Given the description of an element on the screen output the (x, y) to click on. 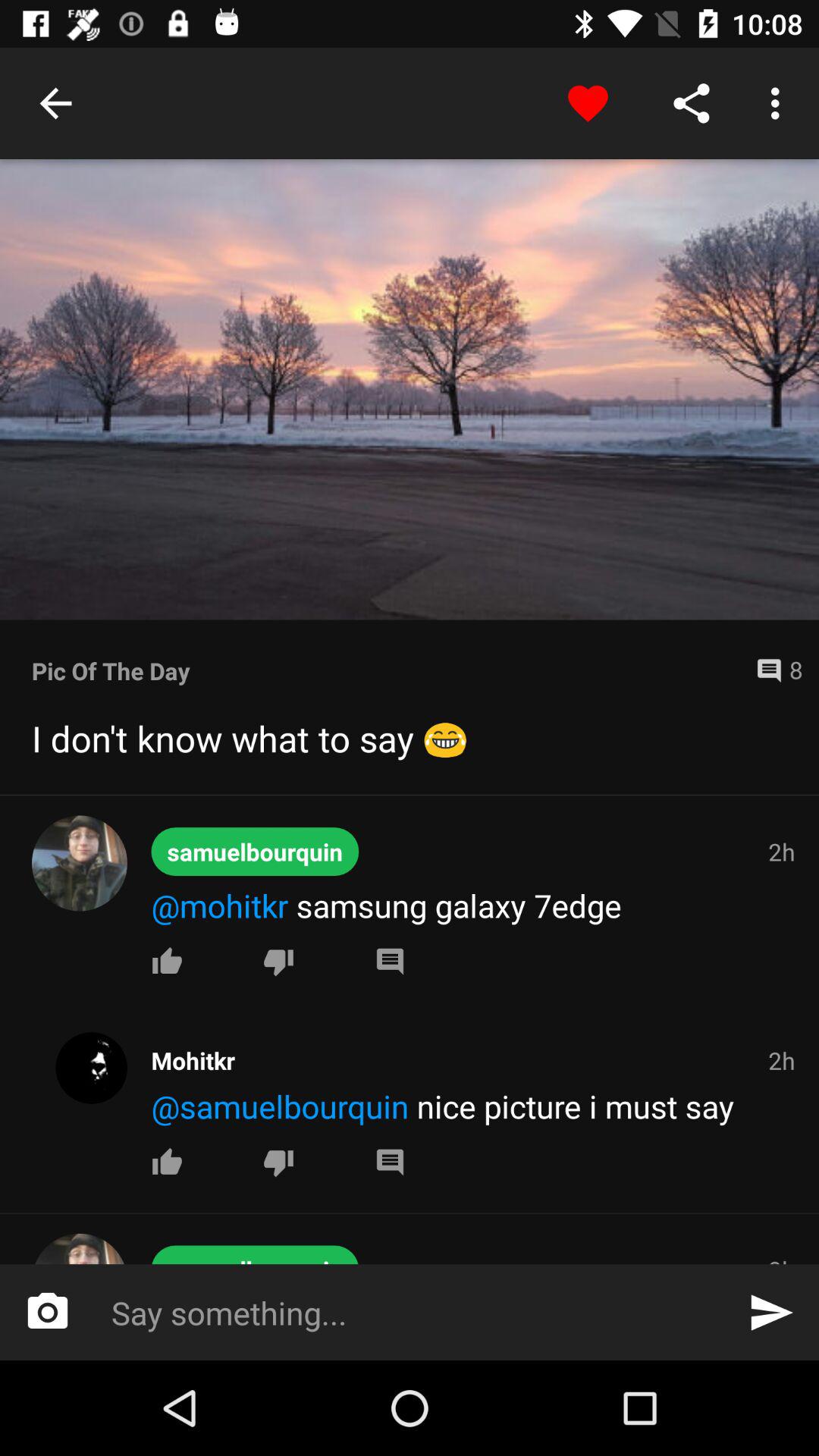
scroll until 3h item (781, 1258)
